Given the description of an element on the screen output the (x, y) to click on. 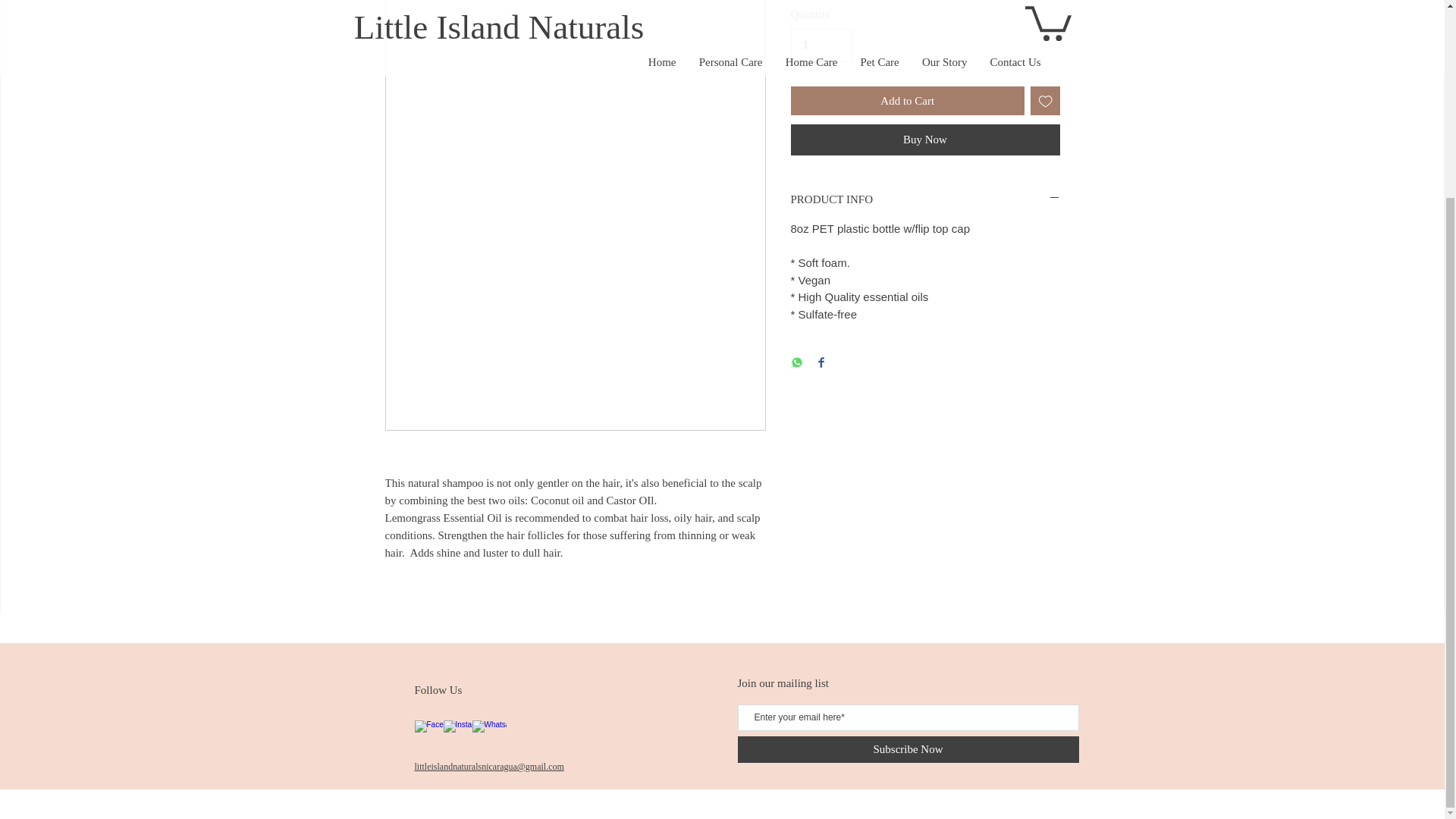
1 (820, 45)
PRODUCT INFO (924, 199)
Subscribe Now (907, 749)
Add to Cart (907, 101)
Buy Now (924, 139)
